Given the description of an element on the screen output the (x, y) to click on. 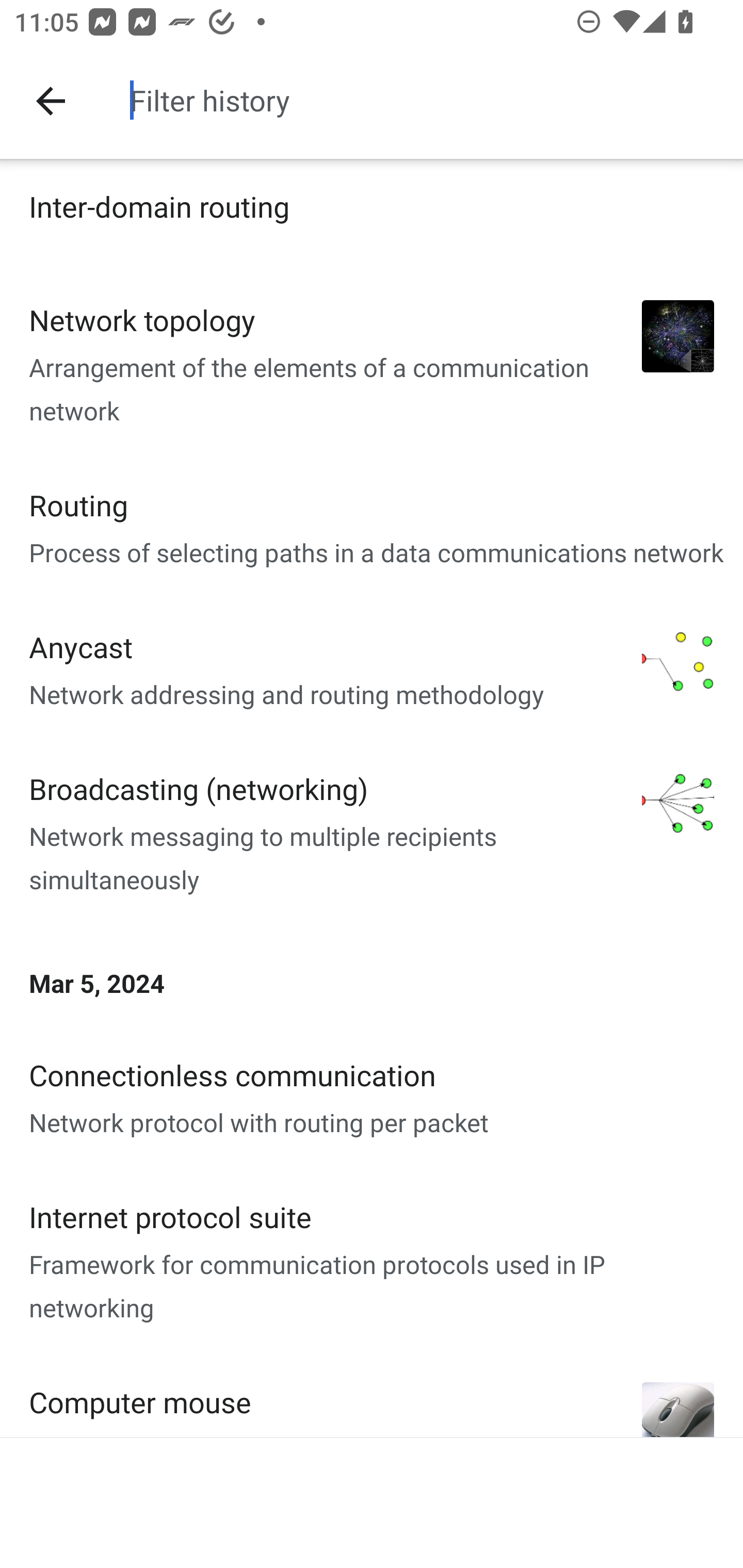
Done (50, 101)
Filter history (429, 100)
Inter-domain routing (371, 214)
